Given the description of an element on the screen output the (x, y) to click on. 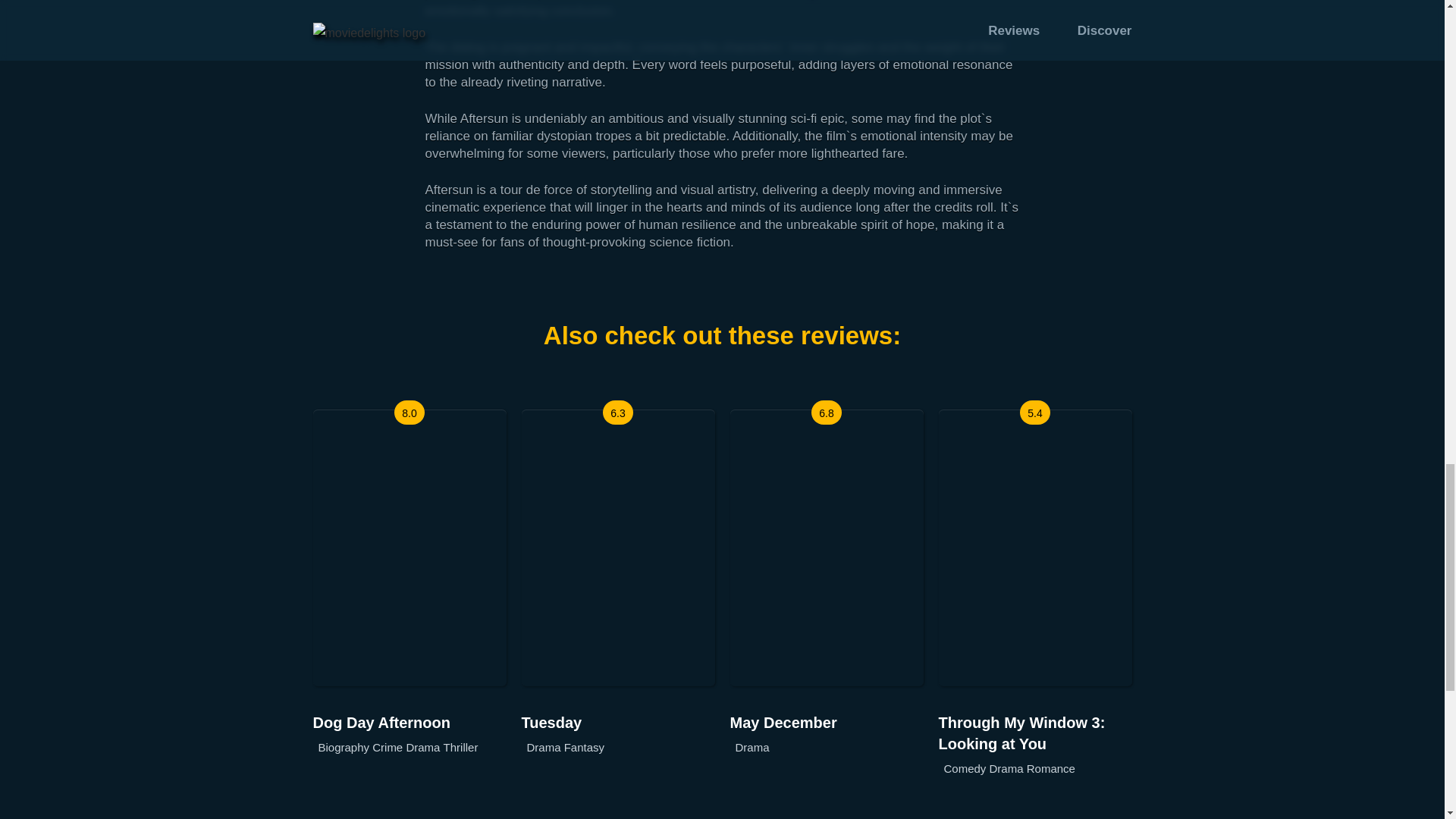
 genre movie reviews (542, 747)
Through My Window 3: Looking at You movie review (1035, 732)
 genre movie reviews (387, 747)
Drama (752, 747)
 genre movie reviews (343, 747)
May December (826, 722)
Through My Window 3: Looking at You (1035, 732)
 genre movie reviews (1050, 768)
 genre movie reviews (752, 747)
 genre movie reviews (461, 747)
